Given the description of an element on the screen output the (x, y) to click on. 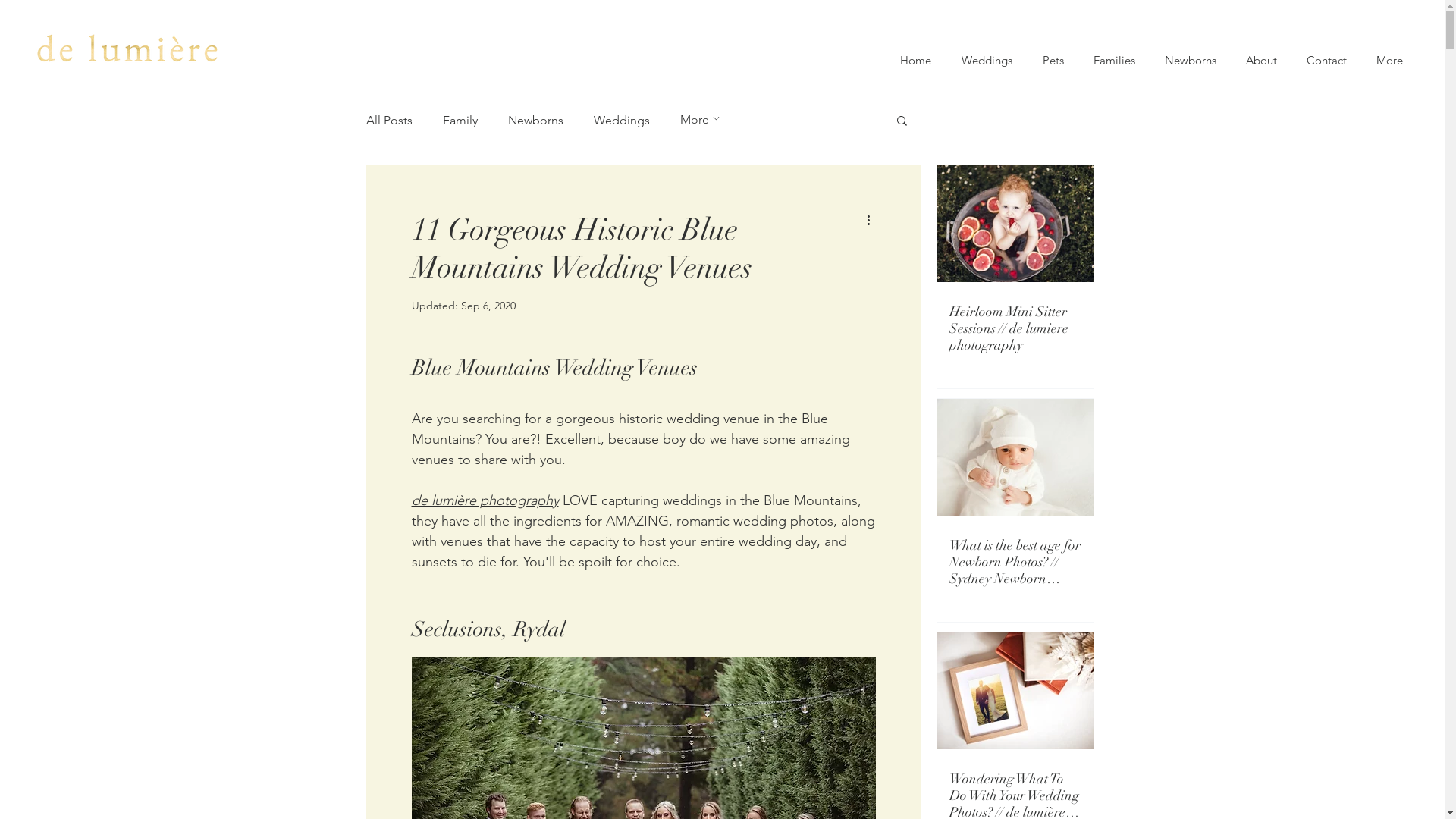
All Posts Element type: text (388, 119)
Contact Element type: text (1326, 60)
Pets Element type: text (1052, 60)
Heirloom Mini Sitter Sessions // de lumiere photography Element type: text (1015, 328)
Families Element type: text (1113, 60)
About Element type: text (1260, 60)
Home Element type: text (915, 60)
Weddings Element type: text (621, 119)
Family Element type: text (459, 119)
Newborns Element type: text (535, 119)
Newborns Element type: text (1189, 60)
Weddings Element type: text (986, 60)
